Given the description of an element on the screen output the (x, y) to click on. 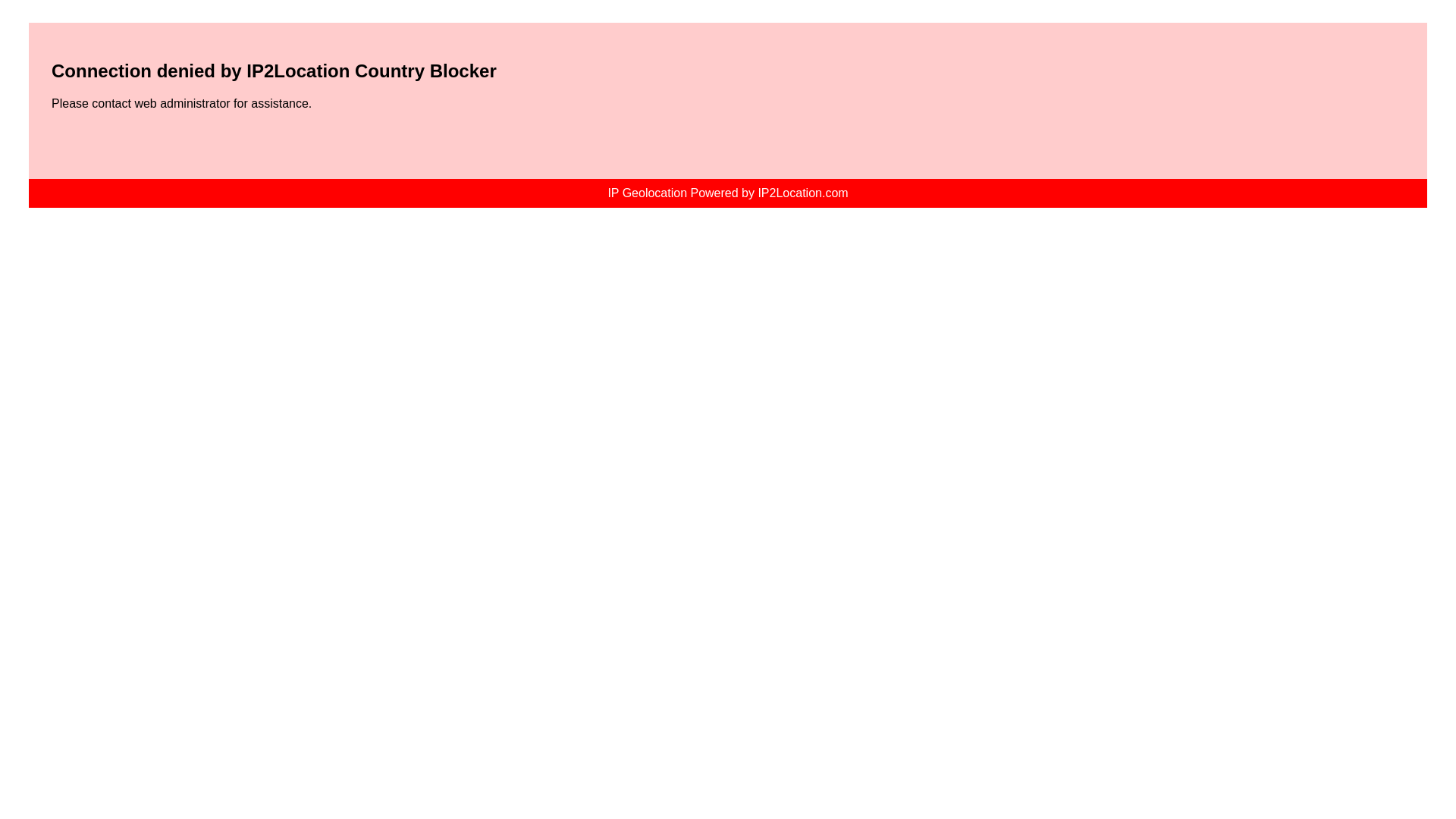
IP Geolocation Powered by IP2Location.com (727, 192)
